Given the description of an element on the screen output the (x, y) to click on. 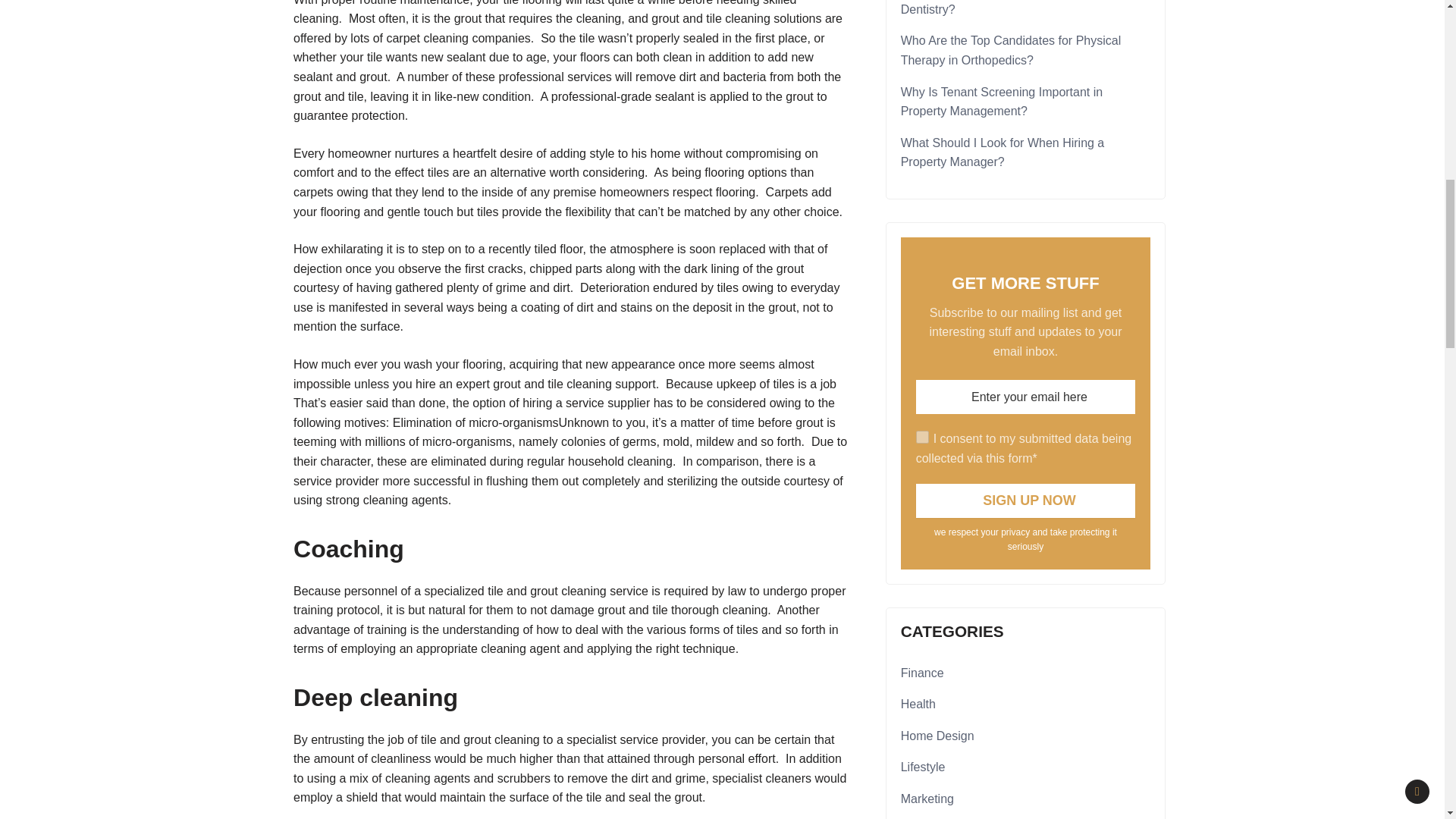
What Should I Look for When Hiring a Property Manager? (1003, 152)
Sign Up Now (1025, 500)
Finance (922, 671)
on (921, 436)
Health (918, 703)
Marketing (927, 798)
Lifestyle (922, 766)
Why Is Oral Hygiene Essential in Preventive Dentistry? (1019, 7)
Why Is Tenant Screening Important in Property Management? (1002, 101)
Home Design (937, 735)
Sign Up Now (1025, 500)
